Given the description of an element on the screen output the (x, y) to click on. 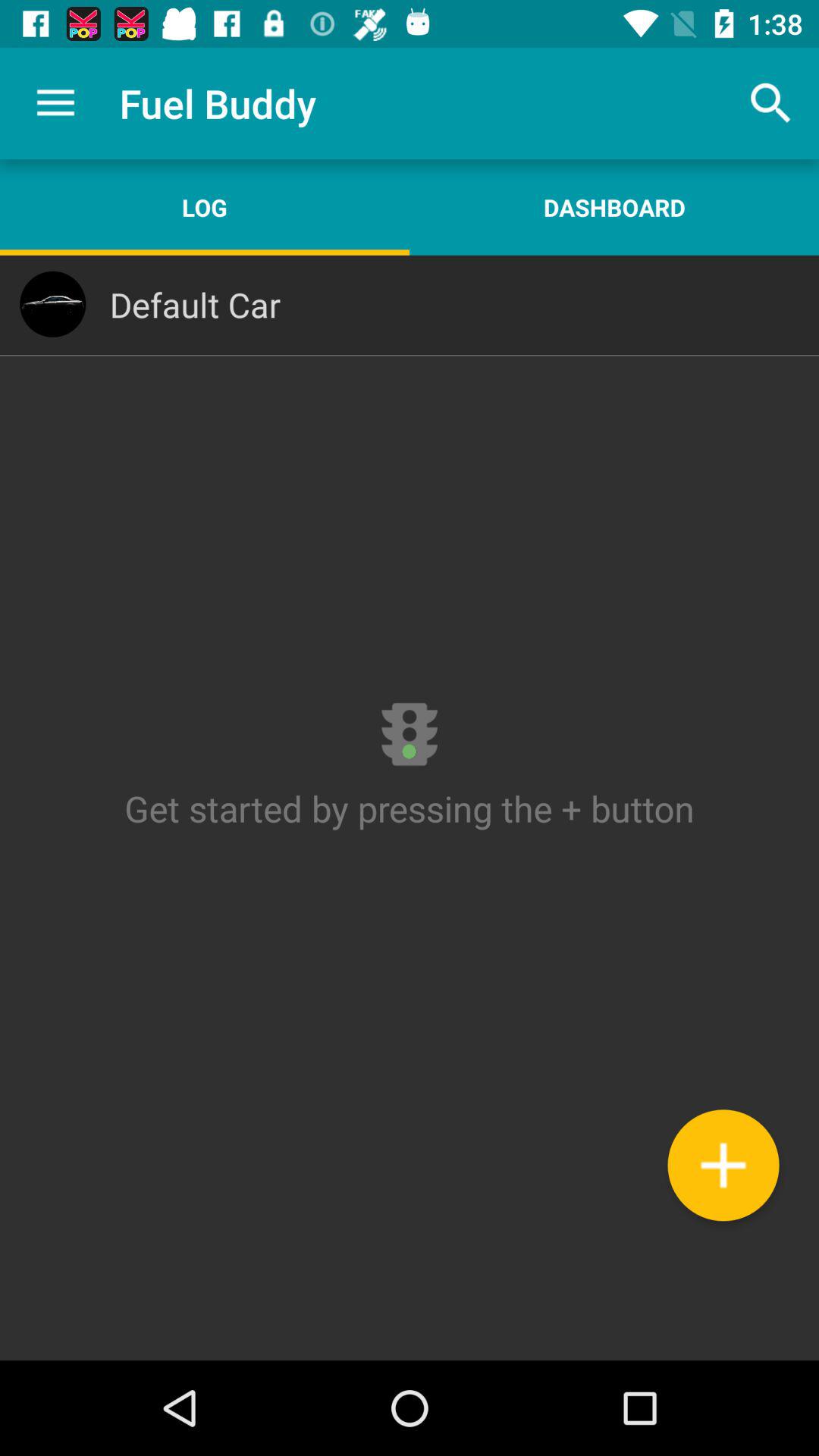
click the icon at the bottom right corner (723, 1165)
